Given the description of an element on the screen output the (x, y) to click on. 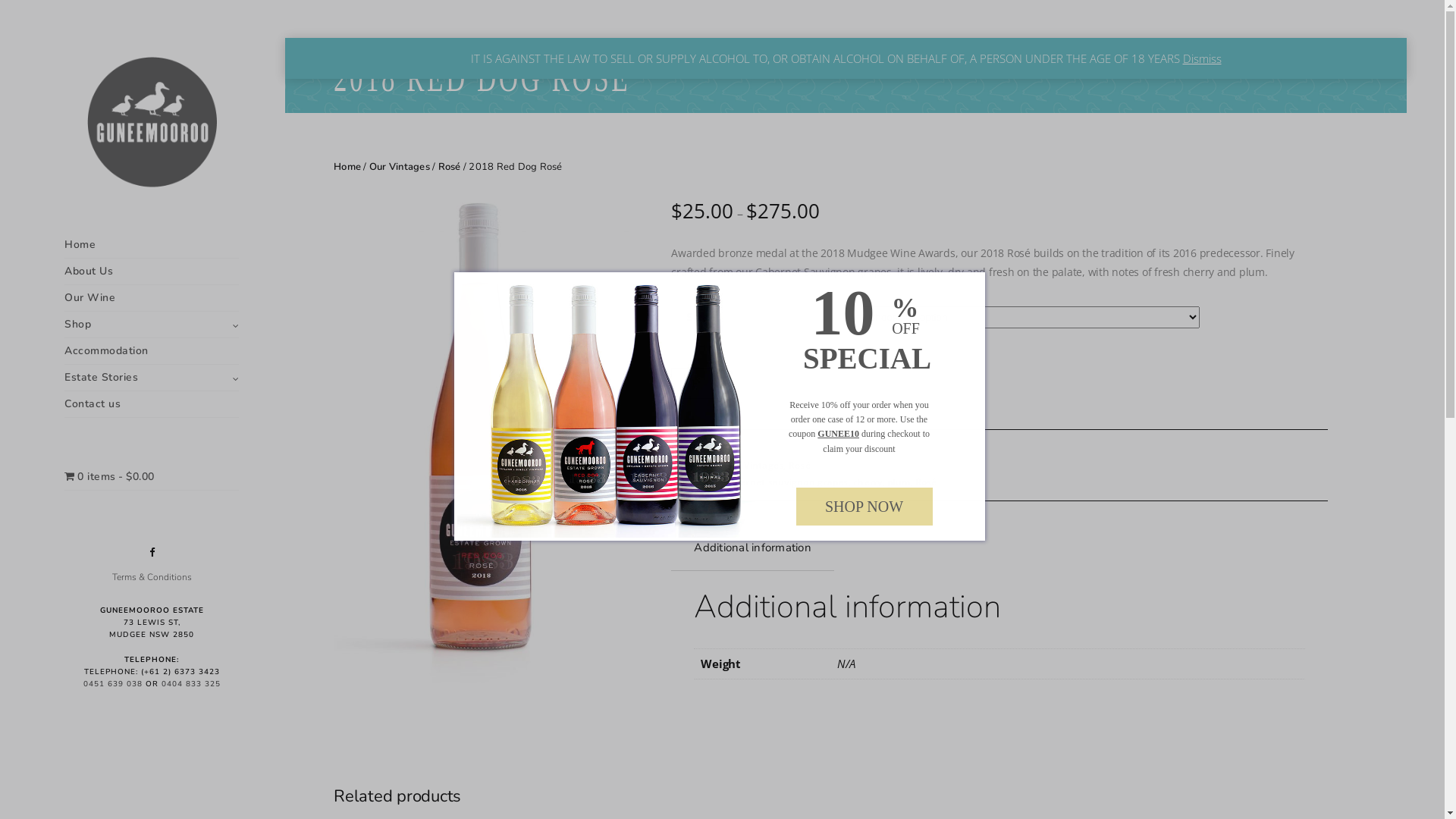
Our Wine Element type: text (151, 298)
Home Element type: text (346, 166)
Shop Element type: text (151, 324)
Dismiss Element type: text (1202, 57)
Terms & Conditions Element type: text (151, 577)
Home Element type: text (151, 245)
0 items$0.00 Element type: text (151, 476)
Accommodation Element type: text (151, 351)
ADD TO CART Element type: text (788, 382)
plum Element type: text (898, 481)
reddog18 Element type: hover (486, 455)
About Us Element type: text (151, 271)
2018 Element type: text (708, 481)
Our Vintages Element type: text (399, 166)
Estate Stories Element type: text (151, 377)
Our Vintages Element type: text (753, 464)
0451 639 038 Element type: text (112, 683)
SHOP NOW Element type: text (864, 506)
cherry Element type: text (867, 481)
0404 833 325 Element type: text (189, 683)
Additional information Element type: text (752, 547)
cabernet sauvignon grapes Element type: text (785, 481)
Facebook Element type: hover (151, 552)
Contact us Element type: text (151, 404)
